Given the description of an element on the screen output the (x, y) to click on. 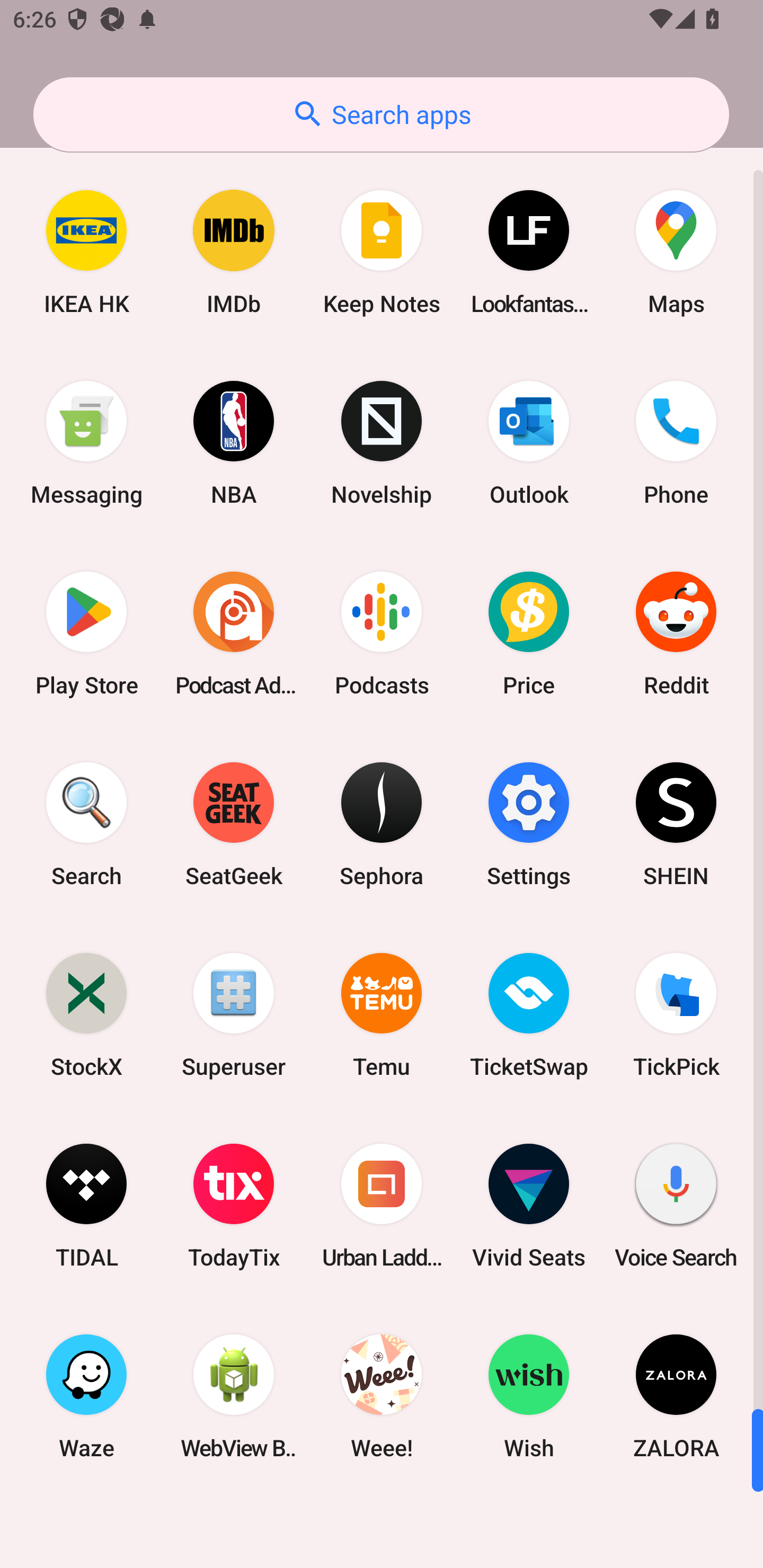
  Search apps (381, 114)
IKEA HK (86, 252)
IMDb (233, 252)
Keep Notes (381, 252)
Lookfantastic (528, 252)
Maps (676, 252)
Messaging (86, 442)
NBA (233, 442)
Novelship (381, 442)
Outlook (528, 442)
Phone (676, 442)
Play Store (86, 633)
Podcast Addict (233, 633)
Podcasts (381, 633)
Price (528, 633)
Reddit (676, 633)
Search (86, 823)
SeatGeek (233, 823)
Sephora (381, 823)
Settings (528, 823)
SHEIN (676, 823)
StockX (86, 1014)
Superuser (233, 1014)
Temu (381, 1014)
TicketSwap (528, 1014)
TickPick (676, 1014)
TIDAL (86, 1205)
TodayTix (233, 1205)
Urban Ladder (381, 1205)
Vivid Seats (528, 1205)
Voice Search (676, 1205)
Waze (86, 1396)
WebView Browser Tester (233, 1396)
Weee! (381, 1396)
Wish (528, 1396)
ZALORA (676, 1396)
